Given the description of an element on the screen output the (x, y) to click on. 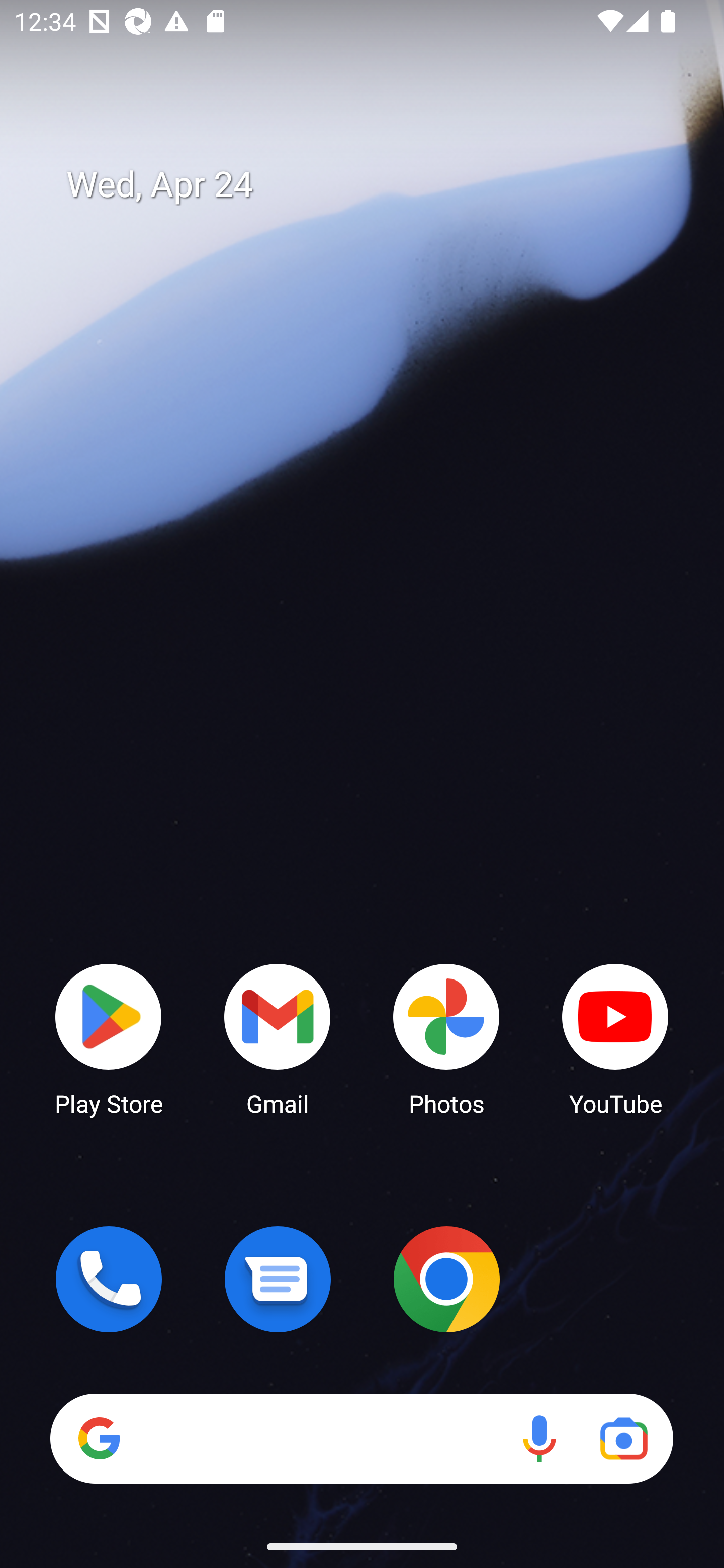
Wed, Apr 24 (375, 184)
Play Store (108, 1038)
Gmail (277, 1038)
Photos (445, 1038)
YouTube (615, 1038)
Phone (108, 1279)
Messages (277, 1279)
Chrome (446, 1279)
Search Voice search Google Lens (361, 1438)
Voice search (539, 1438)
Google Lens (623, 1438)
